Given the description of an element on the screen output the (x, y) to click on. 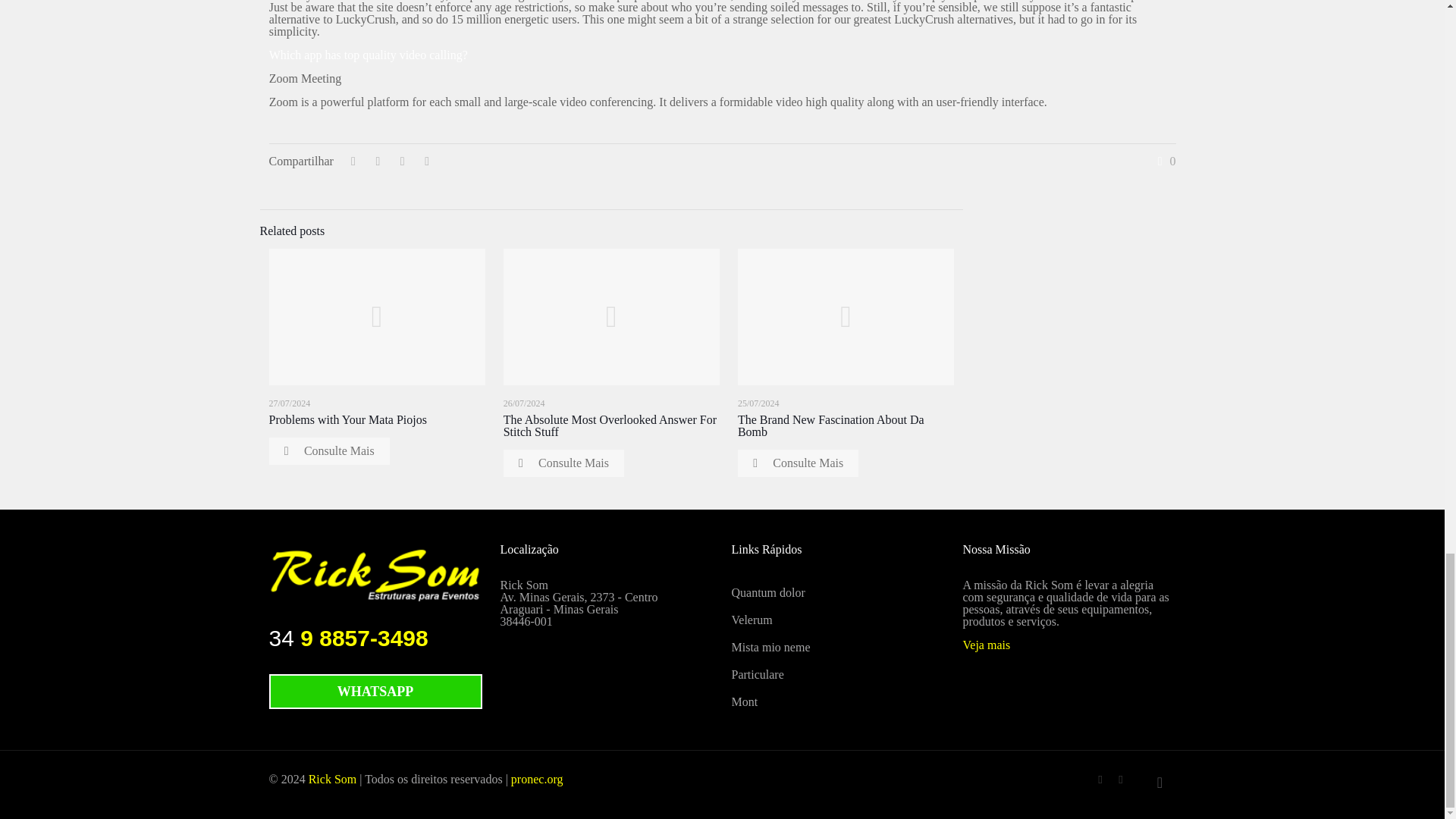
Instagram (1121, 779)
Facebook (1100, 779)
